Given the description of an element on the screen output the (x, y) to click on. 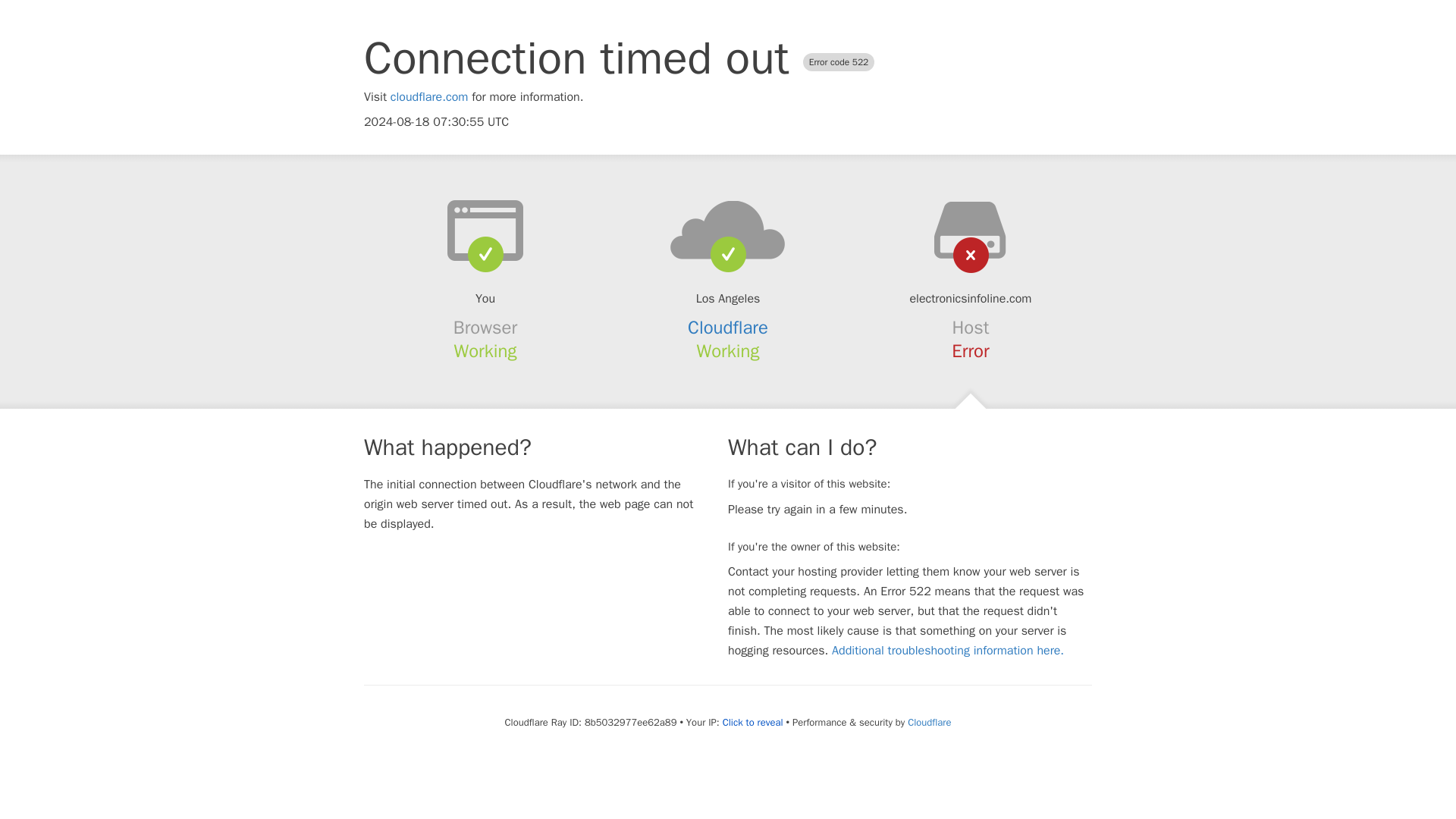
Additional troubleshooting information here. (947, 650)
Cloudflare (928, 721)
Cloudflare (727, 327)
cloudflare.com (429, 96)
Click to reveal (752, 722)
